Given the description of an element on the screen output the (x, y) to click on. 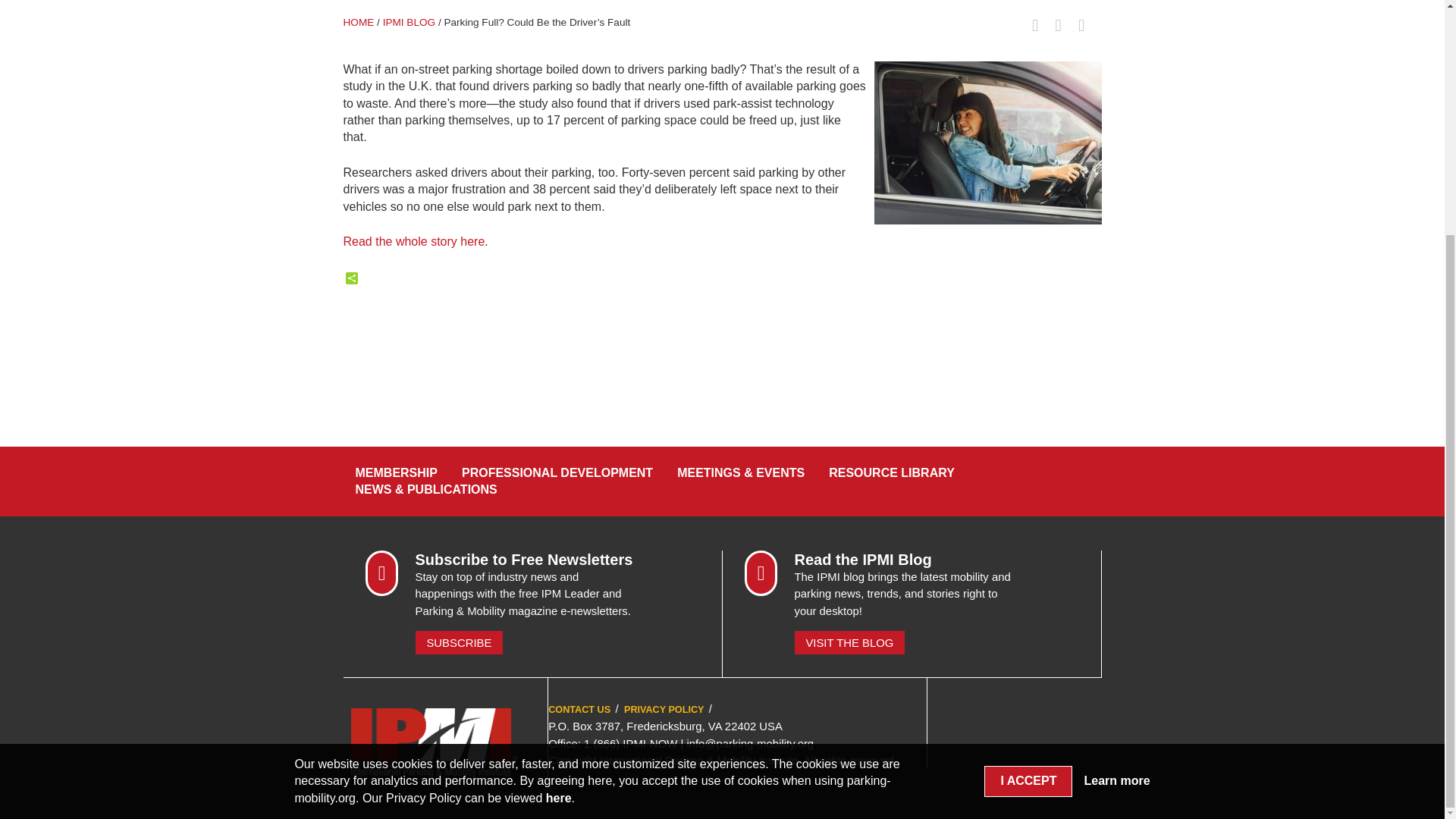
Go to the IPMI Blog category archives. (408, 21)
